Given the description of an element on the screen output the (x, y) to click on. 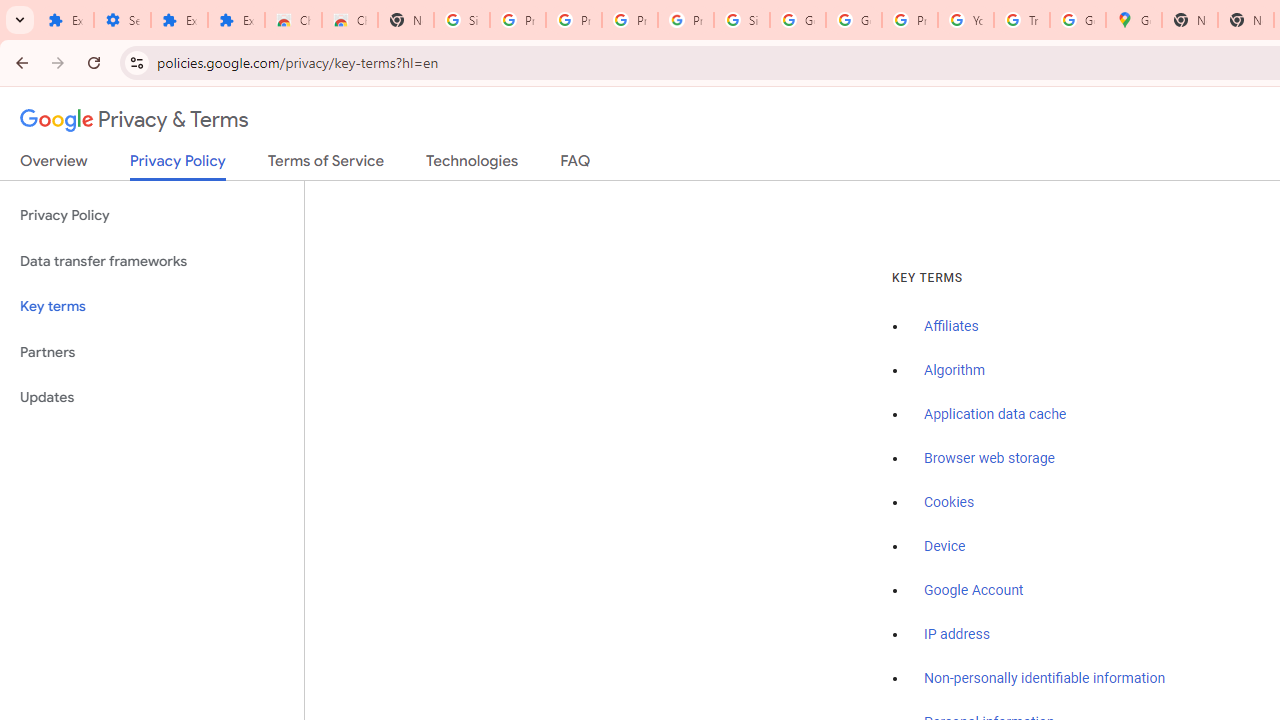
New Tab (405, 20)
Algorithm (954, 371)
Cookies (949, 502)
Sign in - Google Accounts (461, 20)
Browser web storage (989, 459)
Google Account (974, 590)
